Given the description of an element on the screen output the (x, y) to click on. 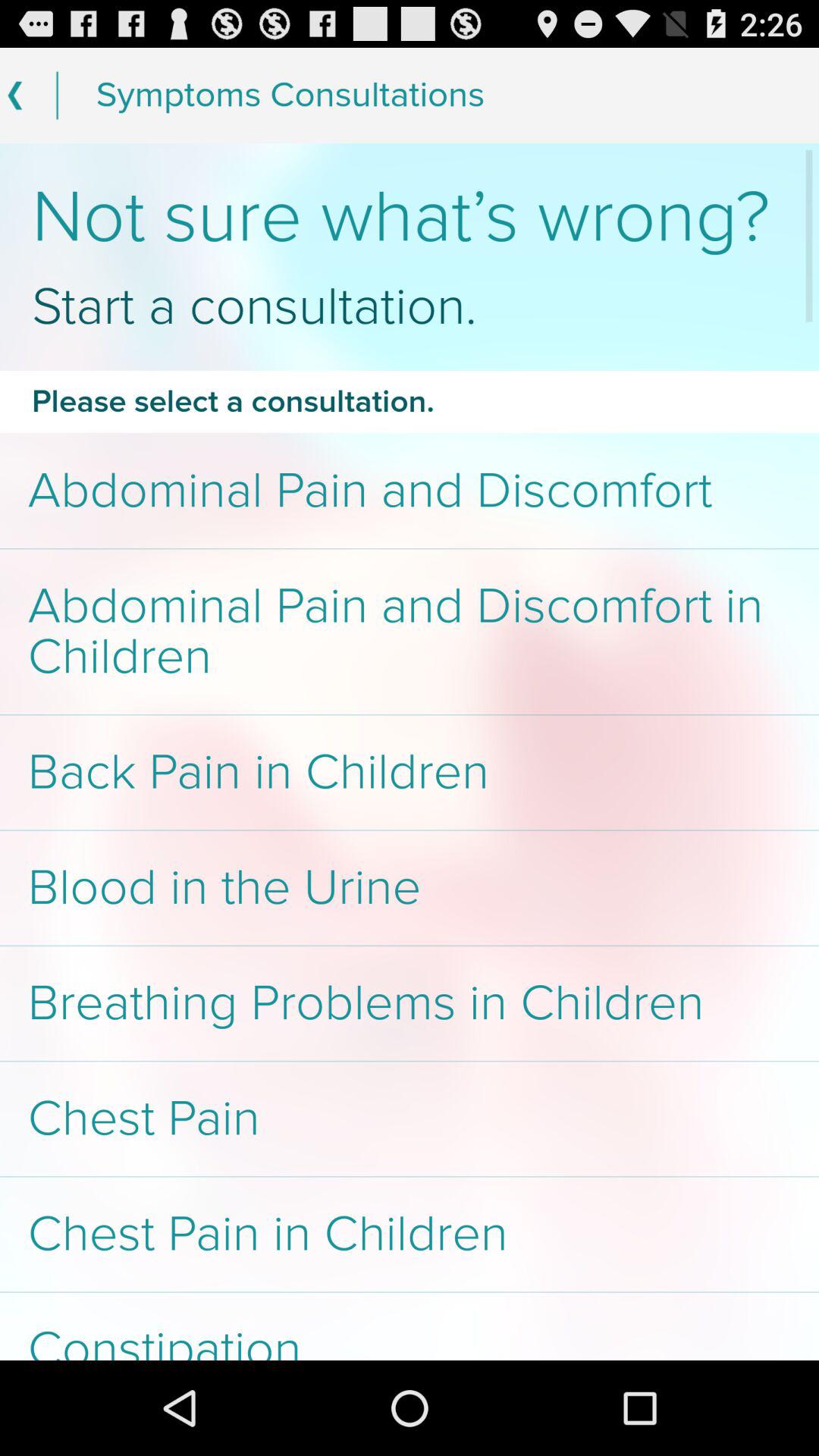
launch the icon below the back pain in (409, 887)
